Given the description of an element on the screen output the (x, y) to click on. 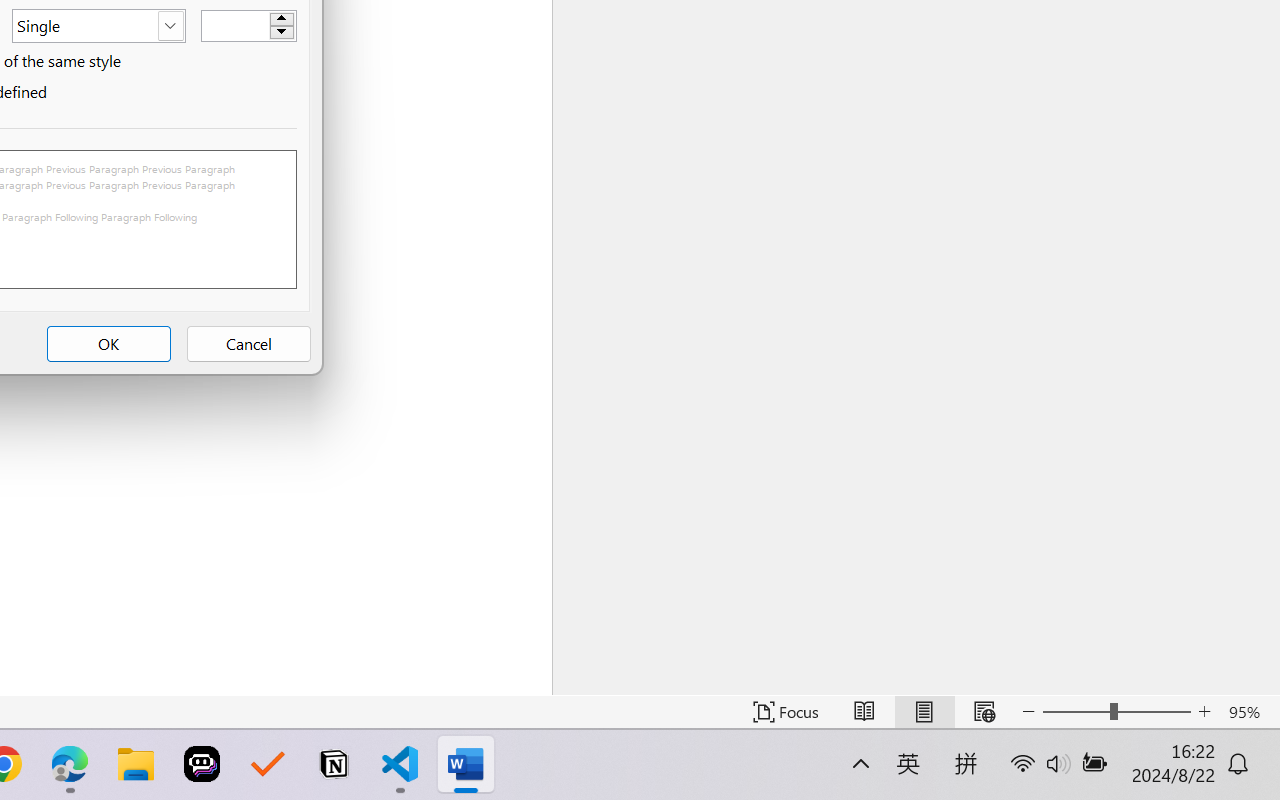
Line spacing: (98, 25)
OK (108, 343)
Cancel (248, 343)
At: (248, 25)
RichEdit Control (235, 25)
Poe (201, 764)
Zoom 95% (1249, 712)
Notion (333, 764)
